Given the description of an element on the screen output the (x, y) to click on. 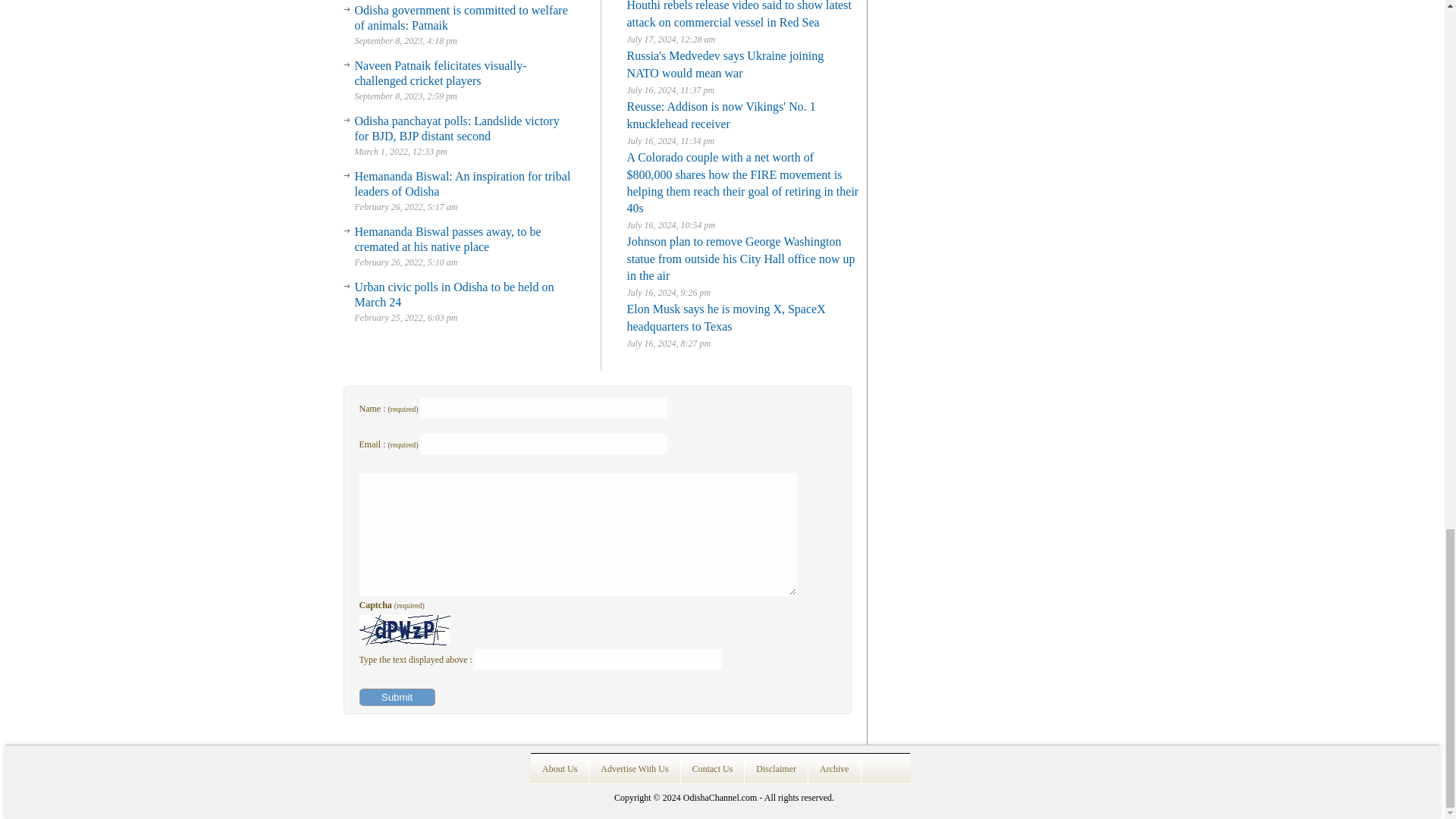
Submit (397, 696)
Urban civic polls in Odisha to be held on March 24 (454, 294)
Elon Musk says he is moving X, SpaceX headquarters to Texas (725, 317)
Russia's Medvedev says Ukraine joining NATO would mean war (725, 64)
Submit (397, 696)
Reusse: Addison is now Vikings' No. 1 knucklehead receiver (720, 114)
